Given the description of an element on the screen output the (x, y) to click on. 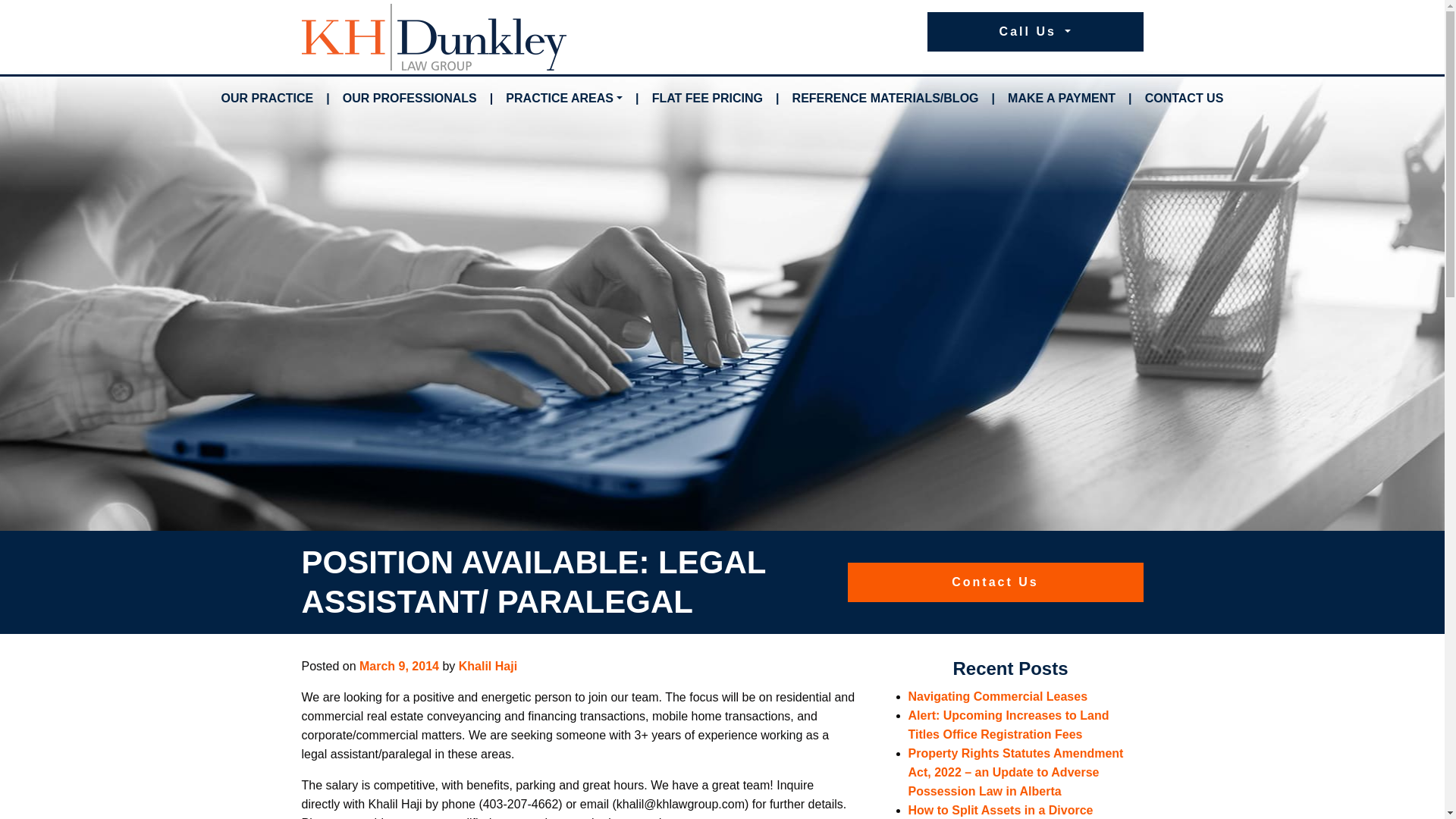
Navigating Commercial Leases (997, 696)
MAKE A PAYMENT (1061, 97)
Flat Fee Pricing (707, 97)
Our Professionals (409, 97)
OUR PRACTICE (267, 97)
How to Split Assets in a Divorce (1000, 809)
Call Us (1034, 31)
Practice Areas (563, 97)
FLAT FEE PRICING (707, 97)
